Given the description of an element on the screen output the (x, y) to click on. 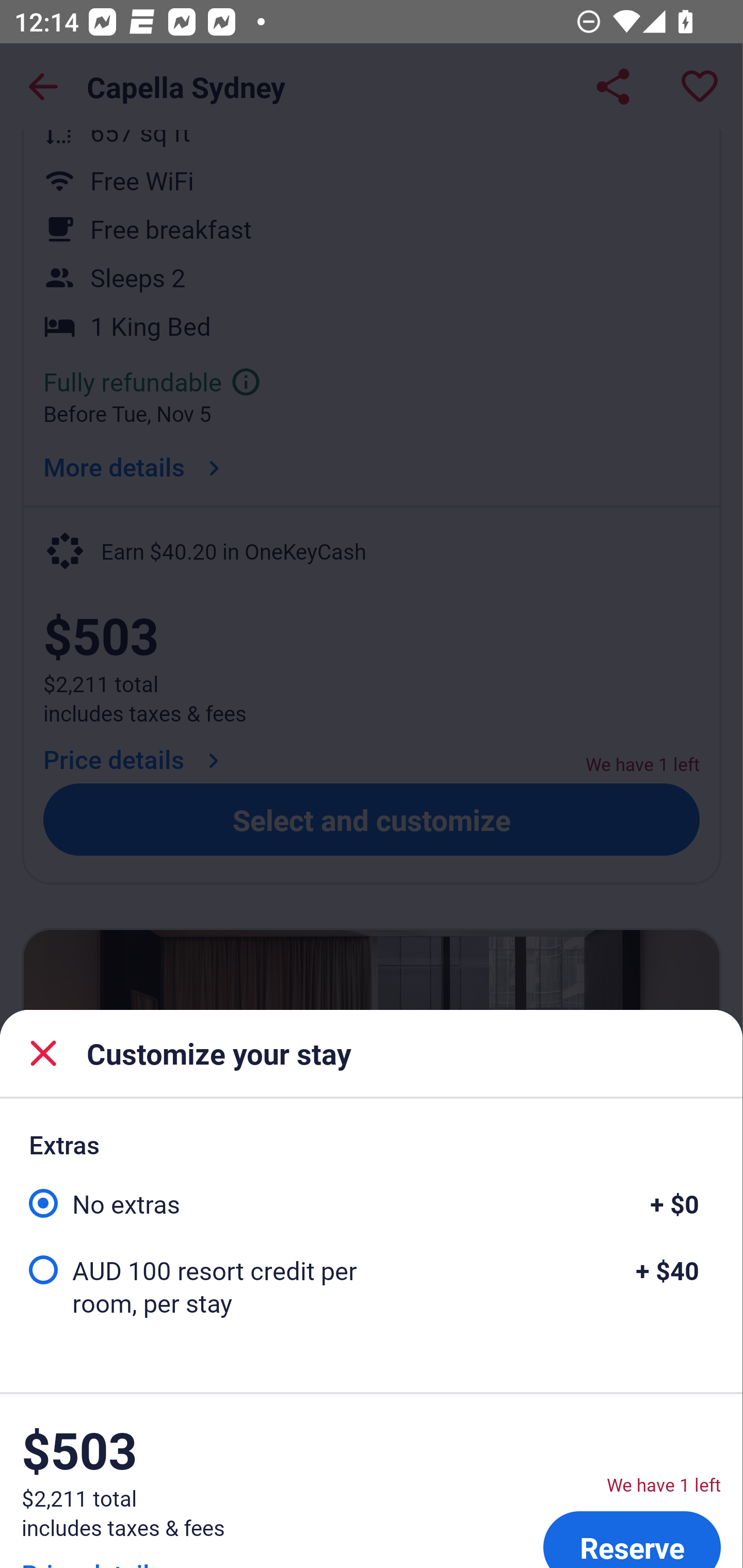
Close sheet (43, 1052)
AUD 100 resort credit per room, per stay + $40 (370, 1284)
